Given the description of an element on the screen output the (x, y) to click on. 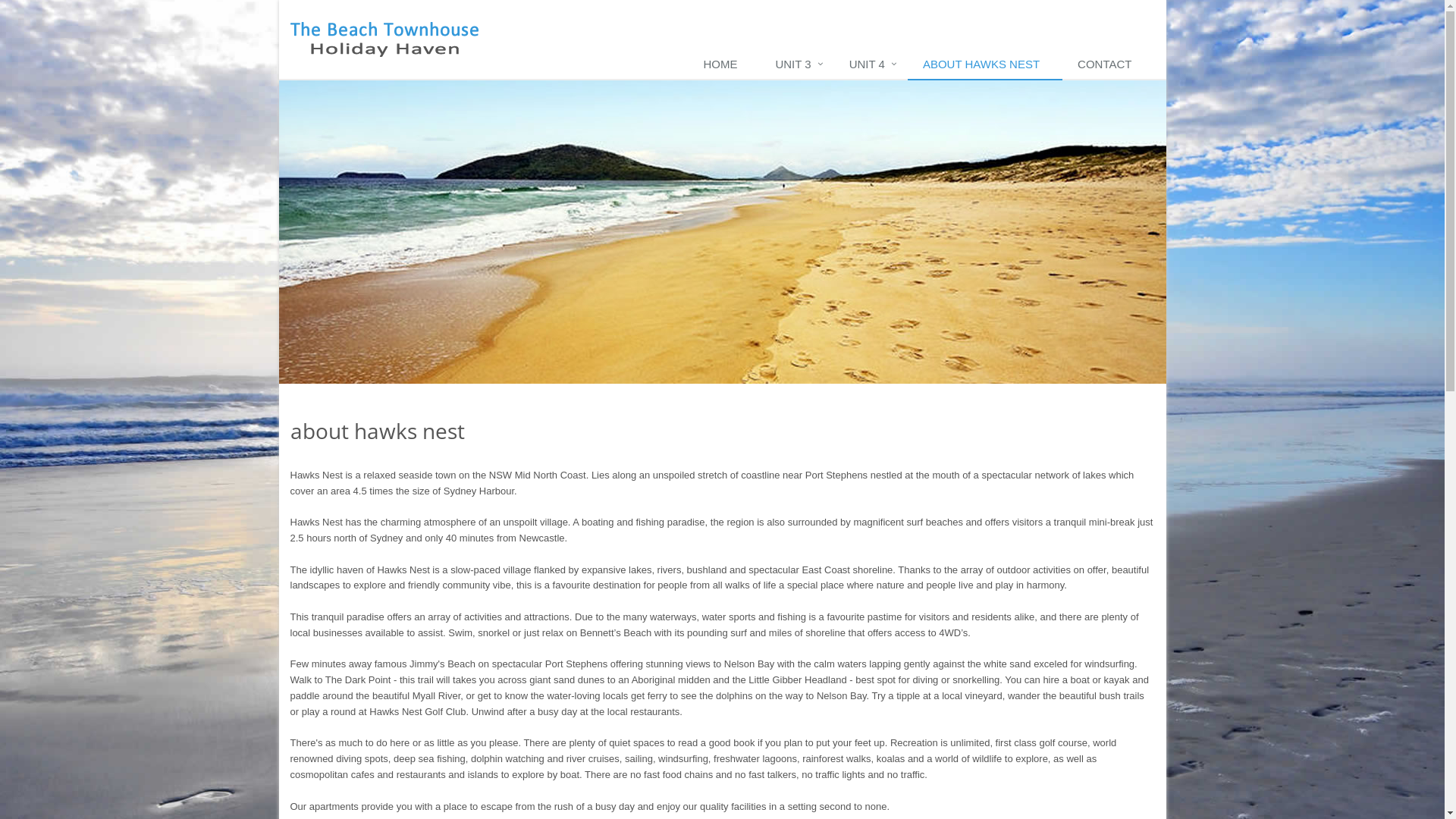
HOME Element type: text (723, 65)
UNIT 3 Element type: text (796, 65)
ABOUT HAWKS NEST Element type: text (984, 65)
UNIT 4 Element type: text (870, 65)
CONTACT Element type: text (1108, 65)
